Given the description of an element on the screen output the (x, y) to click on. 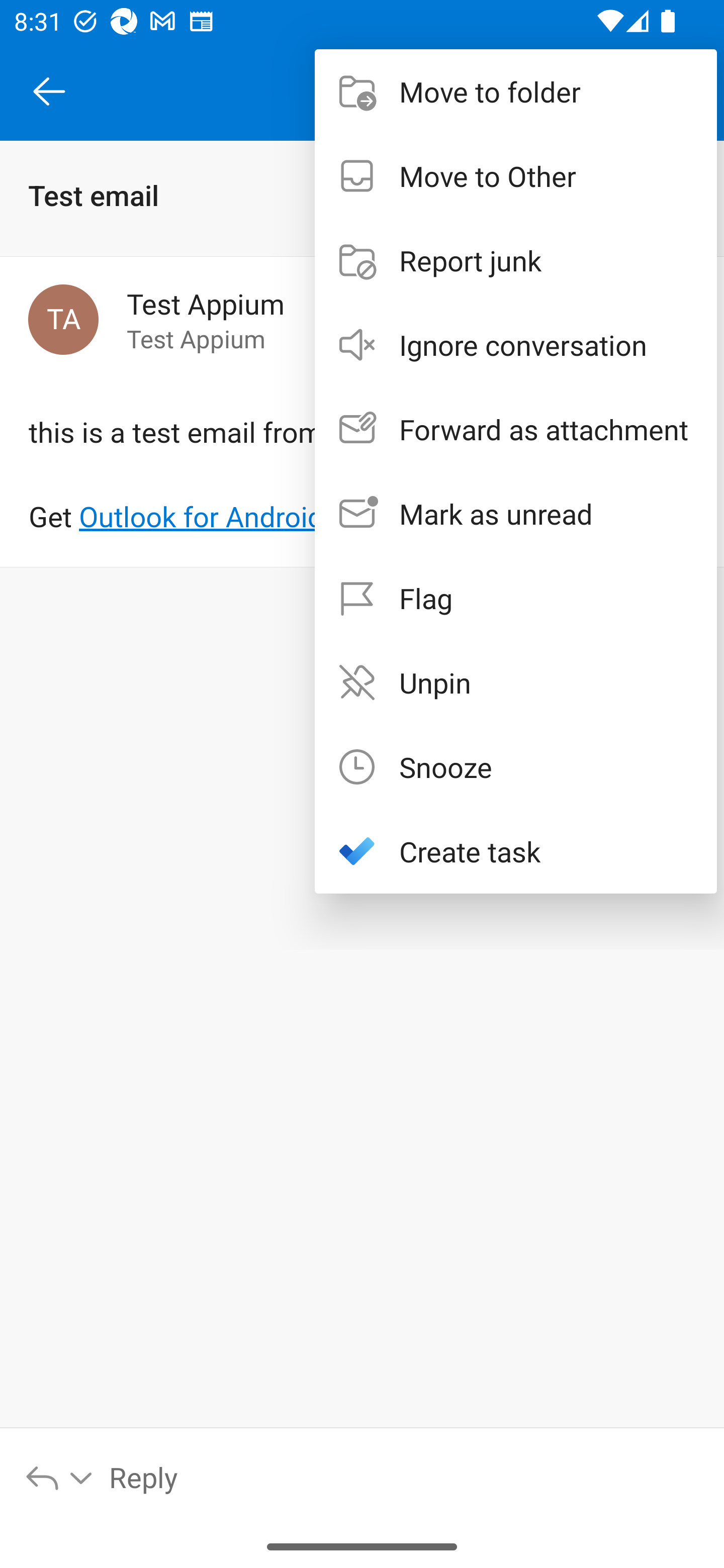
Move to folder (515, 90)
Move to Other (515, 175)
Report junk (515, 259)
Ignore conversation (515, 344)
Forward as attachment (515, 429)
Mark as unread (515, 513)
Flag (515, 597)
Unpin (515, 681)
Snooze (515, 766)
Create task (515, 851)
